Given the description of an element on the screen output the (x, y) to click on. 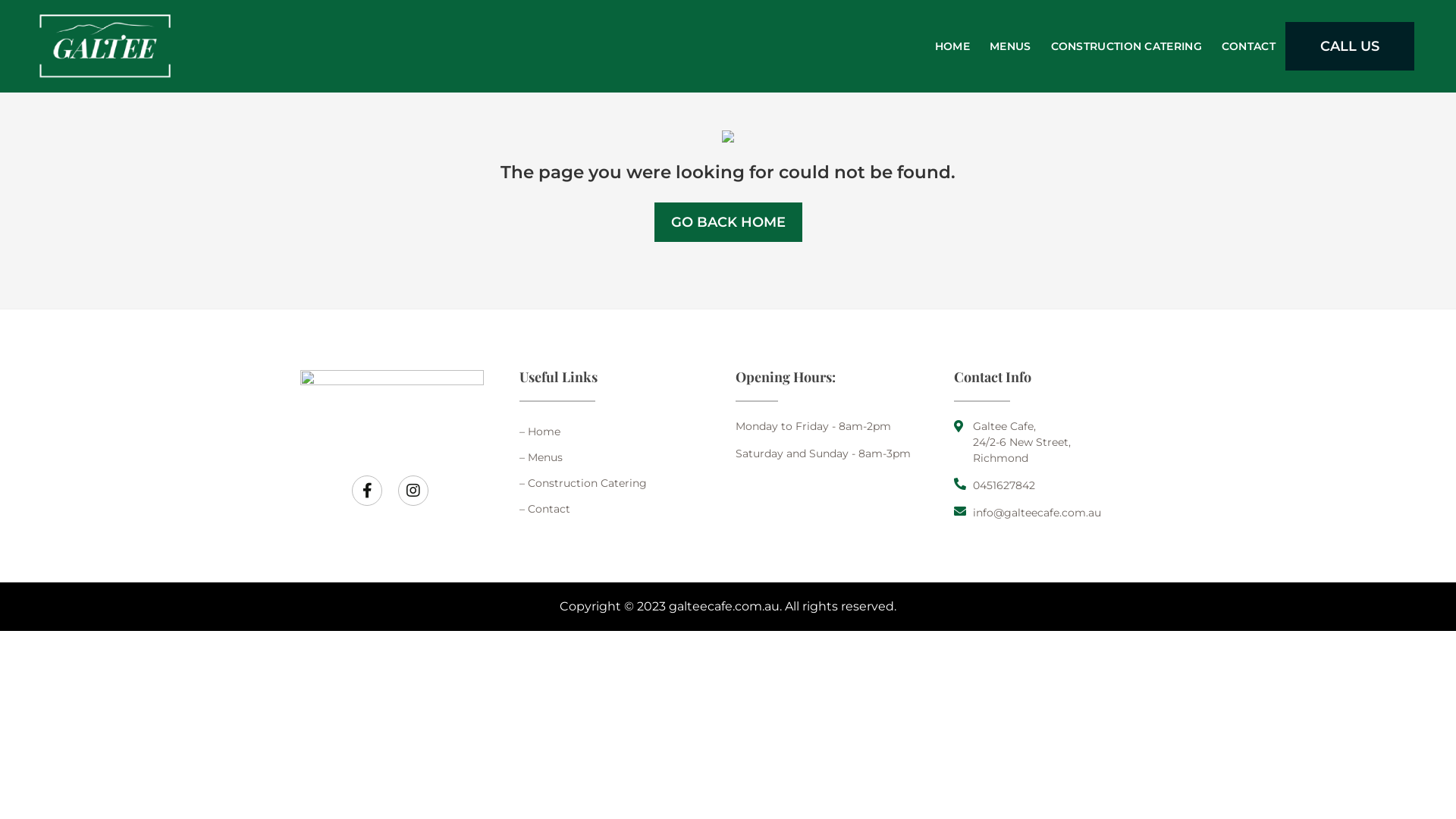
CONTACT Element type: text (1248, 45)
CALL US Element type: text (1349, 45)
0451627842 Element type: text (1055, 485)
CONSTRUCTION CATERING Element type: text (1126, 45)
MENUS Element type: text (1010, 45)
info@galteecafe.com.au Element type: text (1055, 512)
HOME Element type: text (952, 45)
GO BACK HOME Element type: text (727, 221)
